Given the description of an element on the screen output the (x, y) to click on. 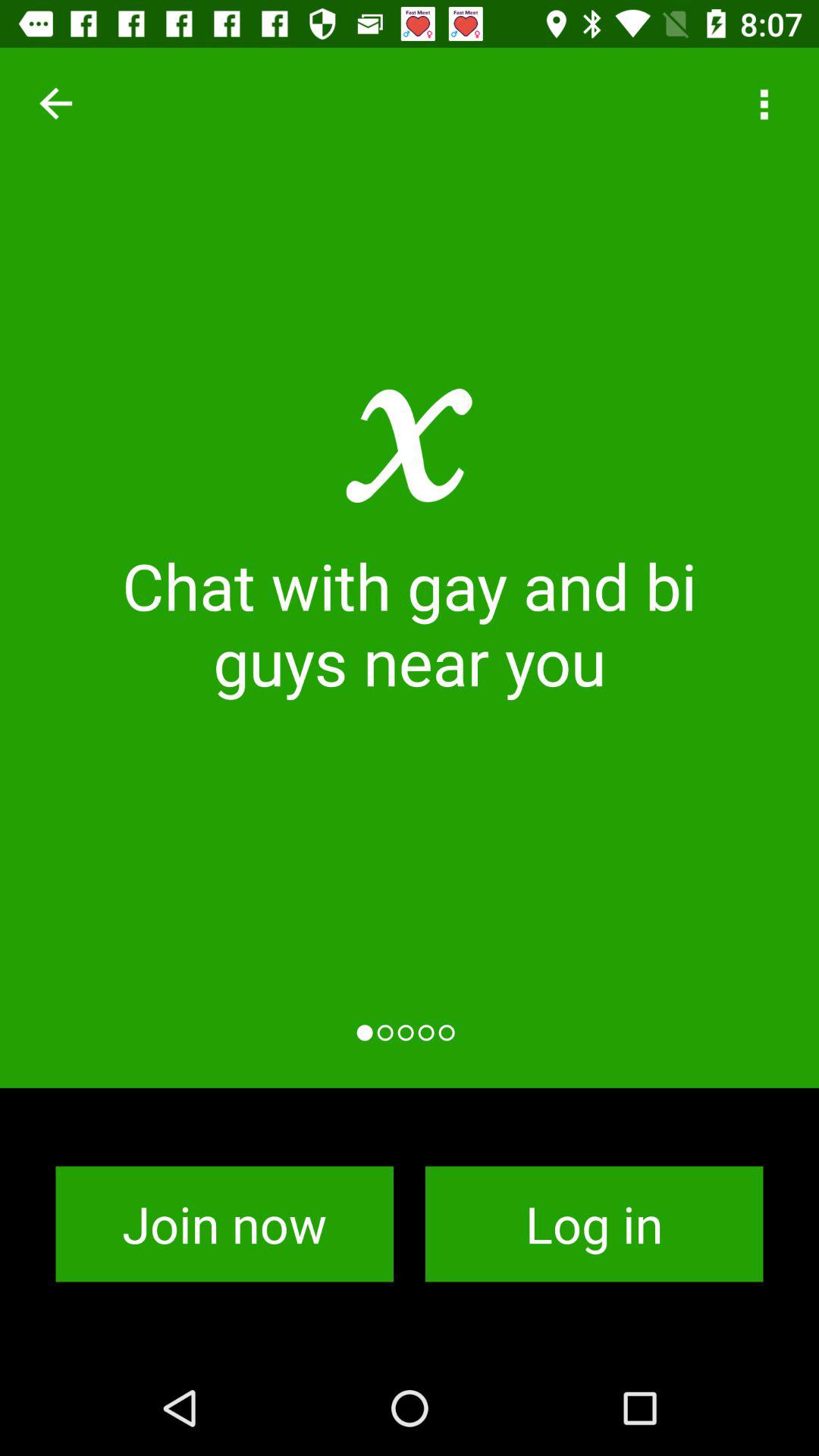
press the app next to the join now item (594, 1223)
